Given the description of an element on the screen output the (x, y) to click on. 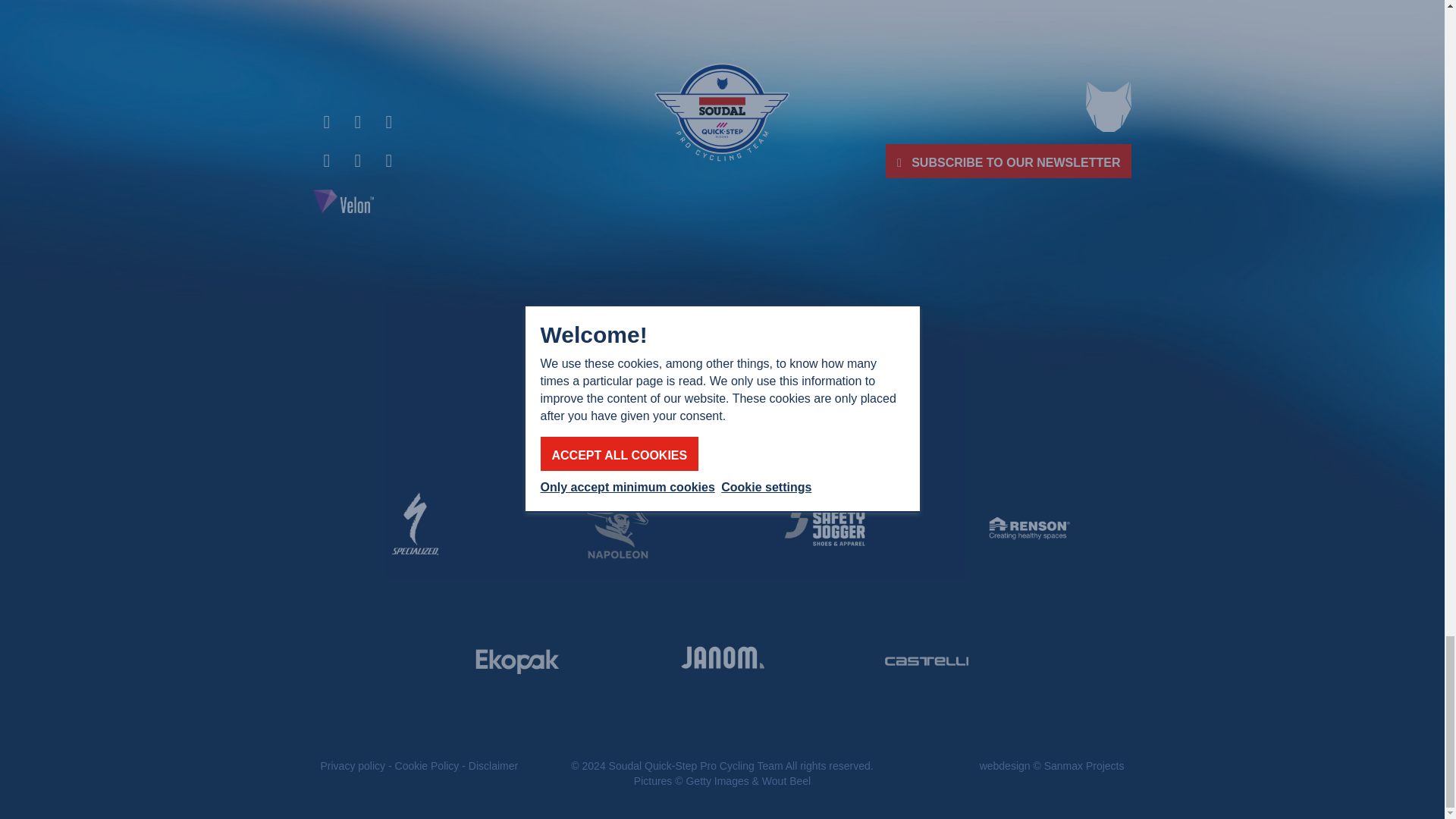
Specialized (414, 528)
Renson (1028, 528)
Safety Jogger (824, 528)
janom (722, 661)
Ekopak (517, 661)
Castelli (927, 661)
Quick-Step Floors (926, 359)
Soudal (517, 359)
